Given the description of an element on the screen output the (x, y) to click on. 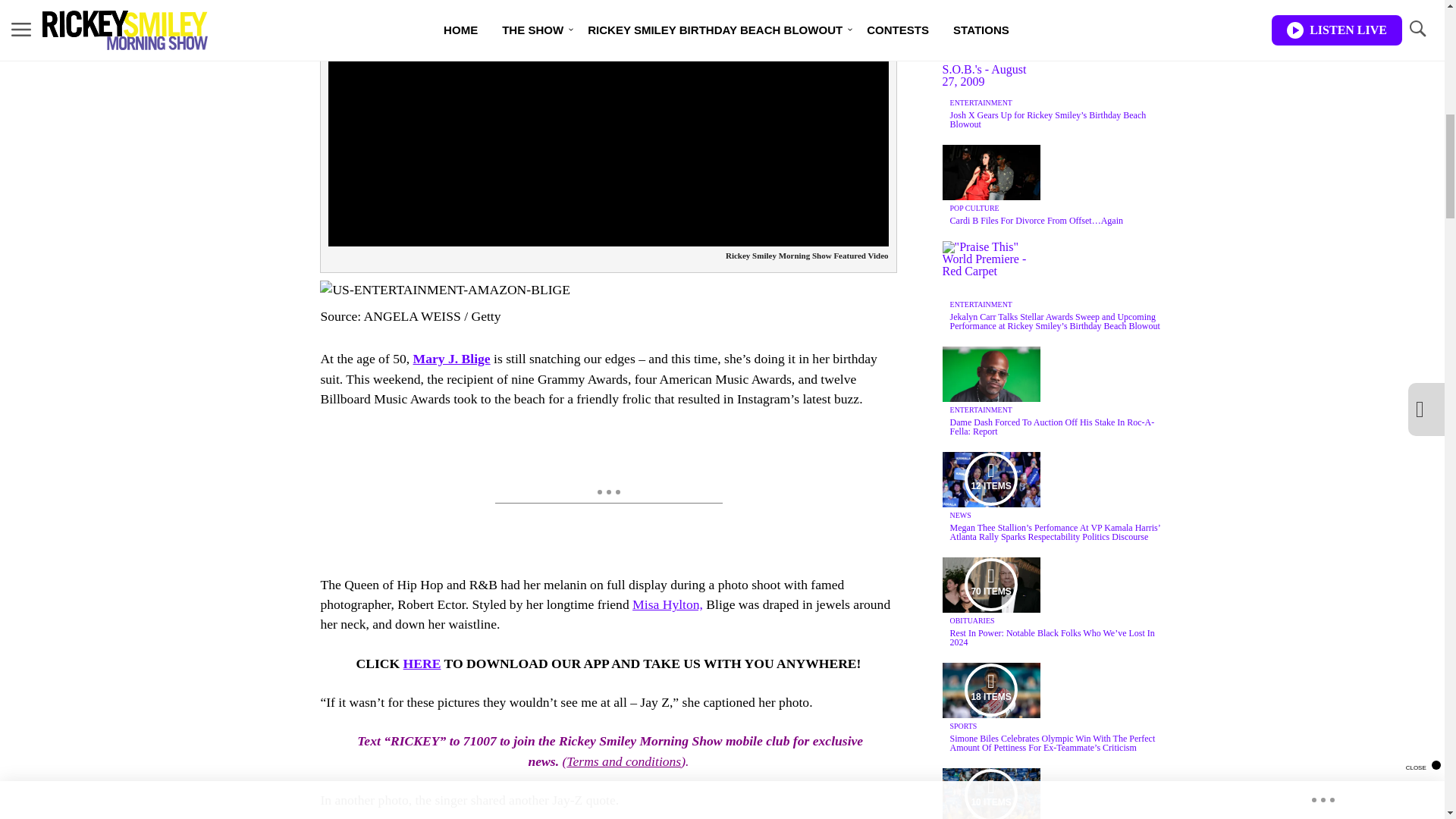
Media Playlist (990, 794)
Media Playlist (990, 689)
Misa Hylton, (667, 604)
HERE (422, 663)
Terms and conditions (623, 761)
Media Playlist (990, 583)
Mary J. Blige (451, 358)
Media Playlist (990, 479)
